Given the description of an element on the screen output the (x, y) to click on. 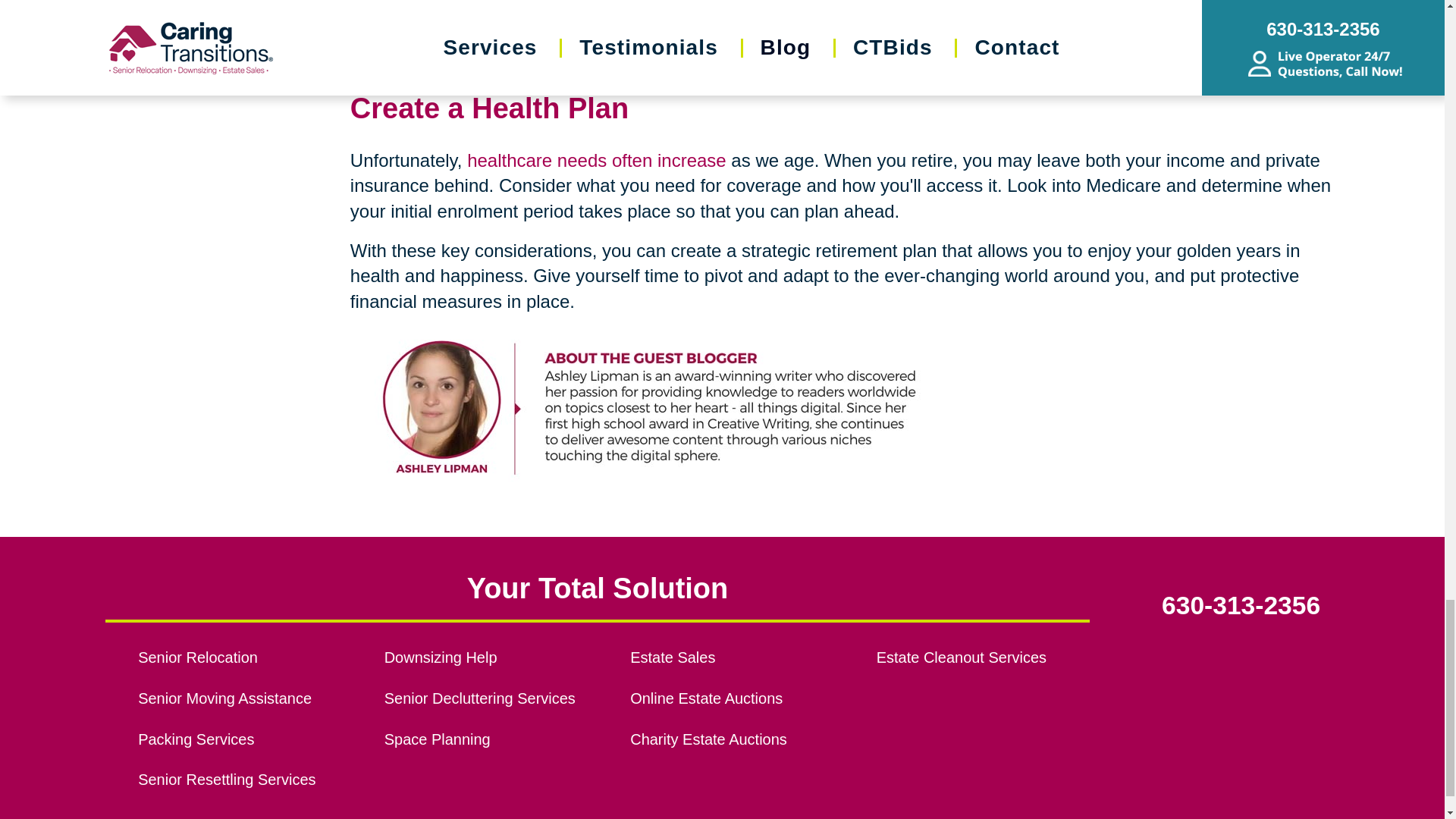
Packing Services (244, 739)
healthcare needs often increase (596, 159)
Downsizing Help (490, 657)
Senior Moving Assistance (244, 698)
Senior Relocation (244, 657)
Senior Resettling Services (244, 780)
Senior Decluttering Services (490, 698)
